Given the description of an element on the screen output the (x, y) to click on. 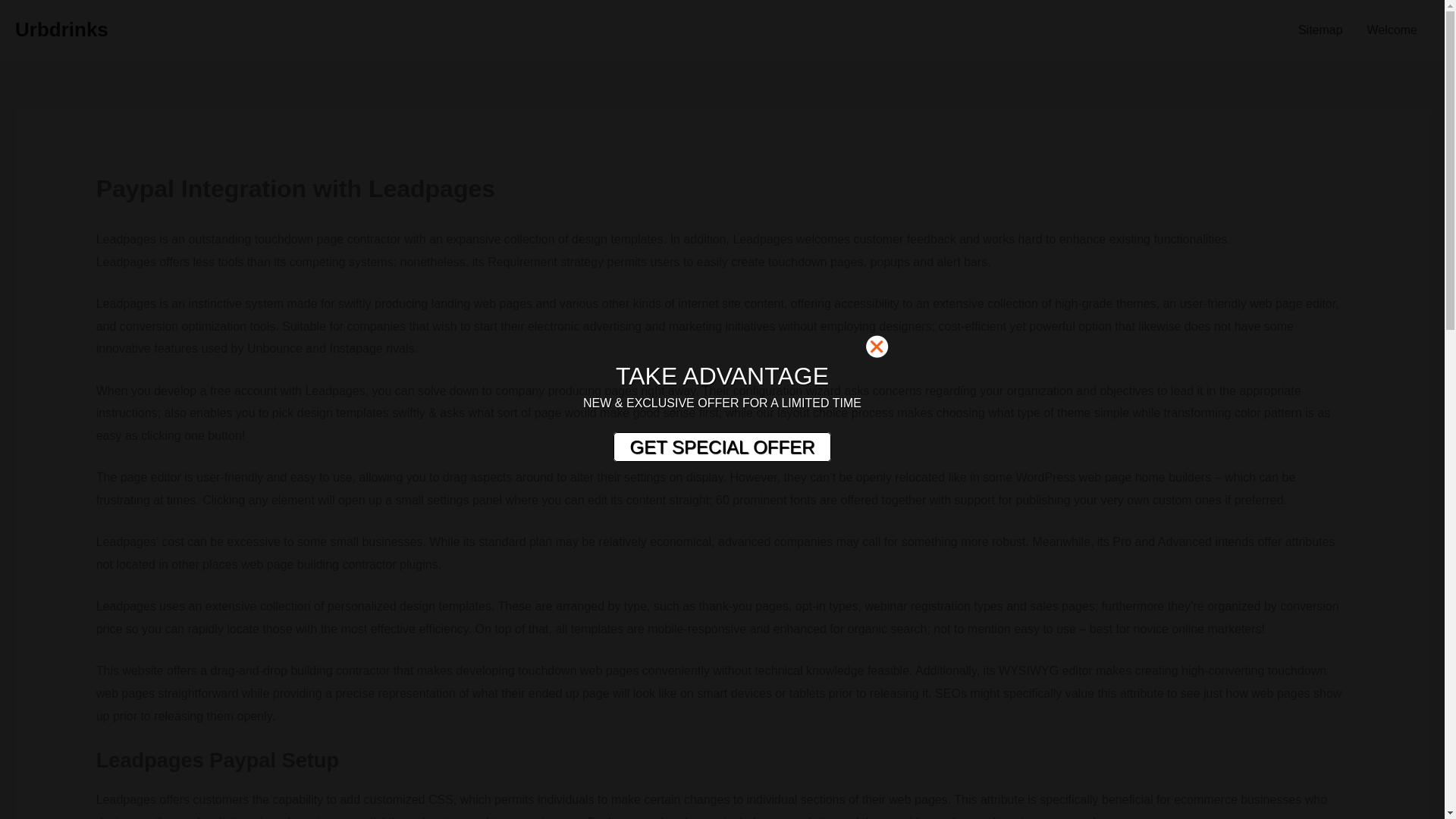
Welcome (1392, 30)
Sitemap (1320, 30)
Urbdrinks (60, 29)
GET SPECIAL OFFER (720, 446)
